Given the description of an element on the screen output the (x, y) to click on. 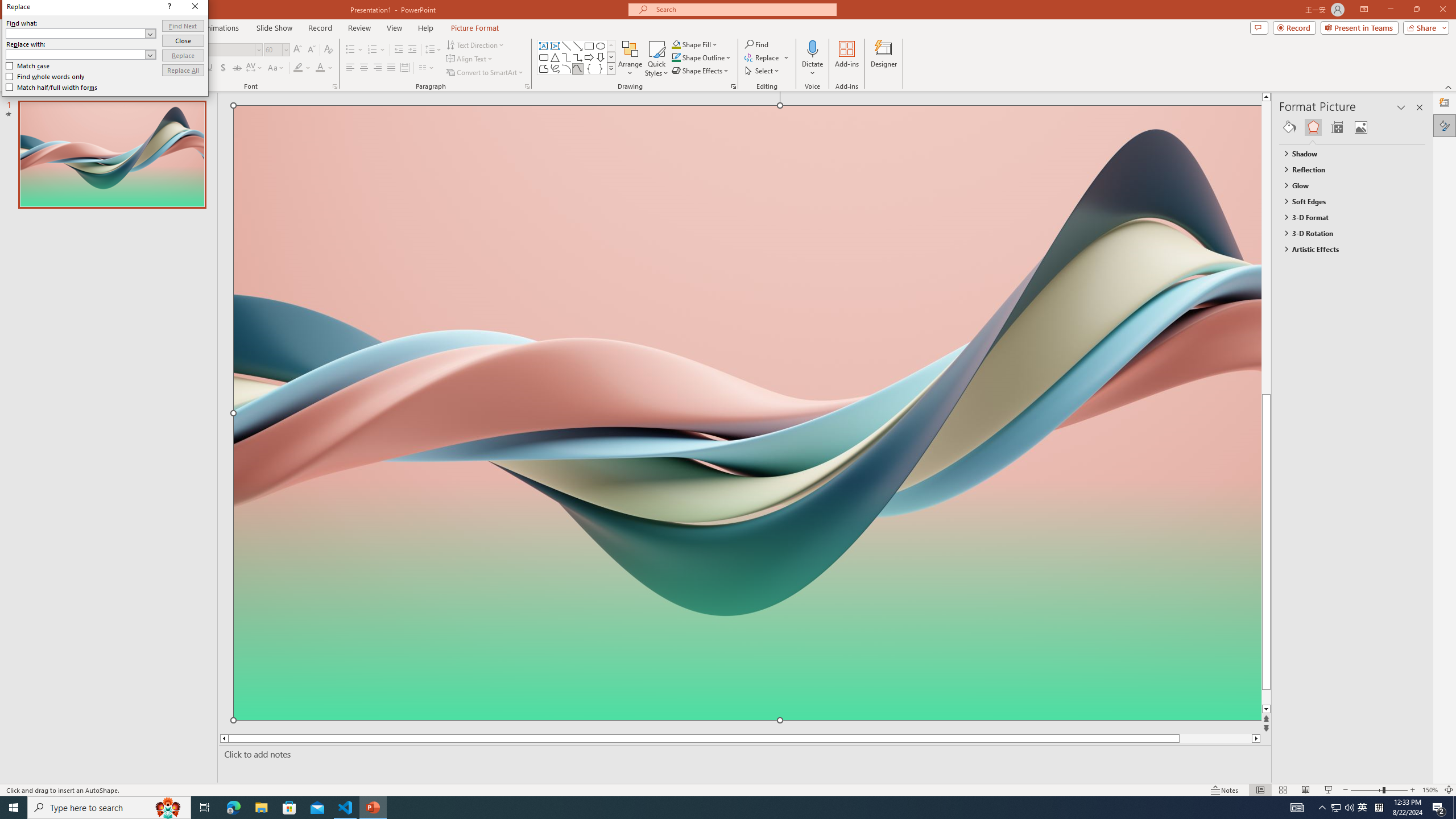
Fill & Line (1288, 126)
Find Next (183, 25)
